Given the description of an element on the screen output the (x, y) to click on. 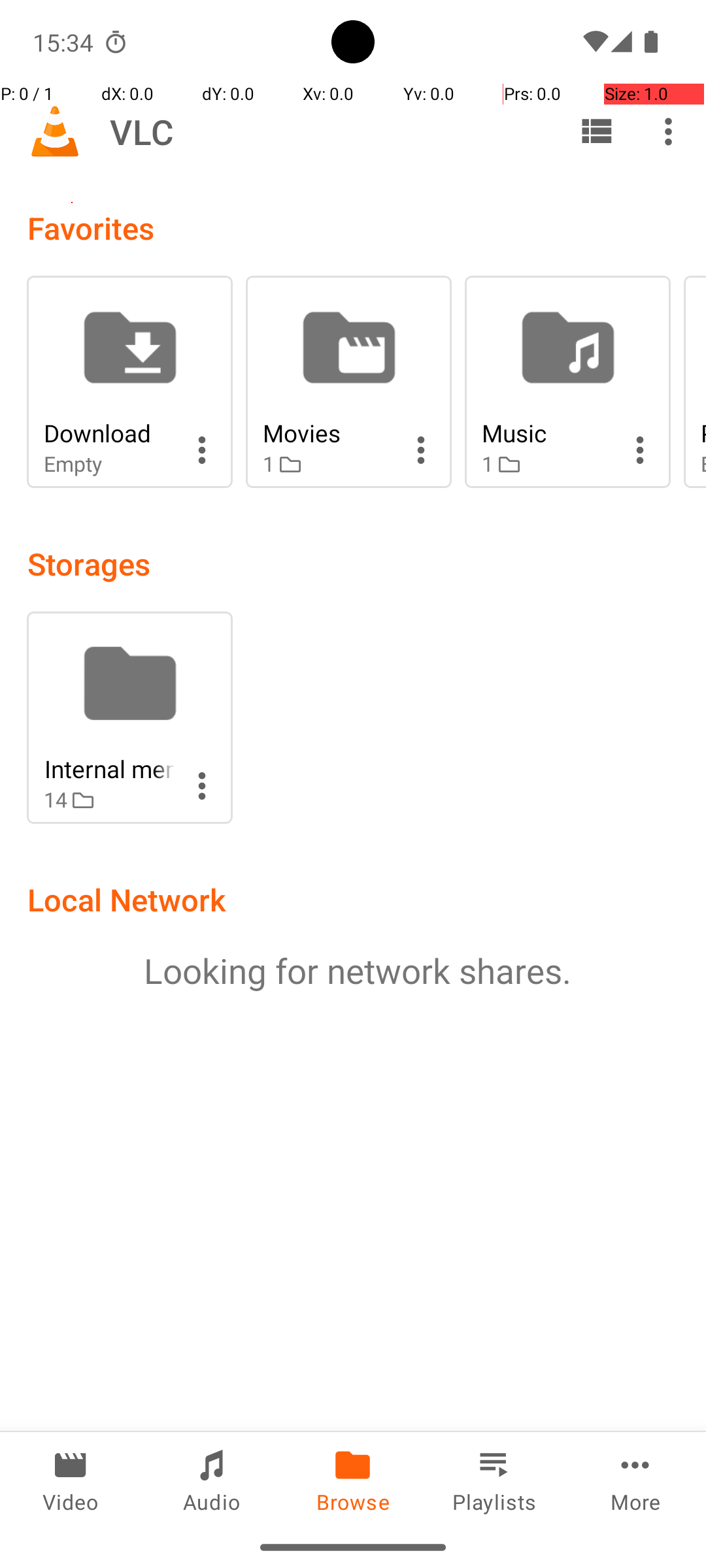
Looking for network shares Element type: android.widget.TextView (352, 970)
Favorite: Music, 1 subfolder Element type: androidx.cardview.widget.CardView (567, 381)
Favorite: Podcasts, Empty Element type: androidx.cardview.widget.CardView (694, 381)
Folder: Internal memory, 14 subfolders Element type: androidx.cardview.widget.CardView (129, 717)
14 §*§ Element type: android.widget.TextView (108, 799)
